Given the description of an element on the screen output the (x, y) to click on. 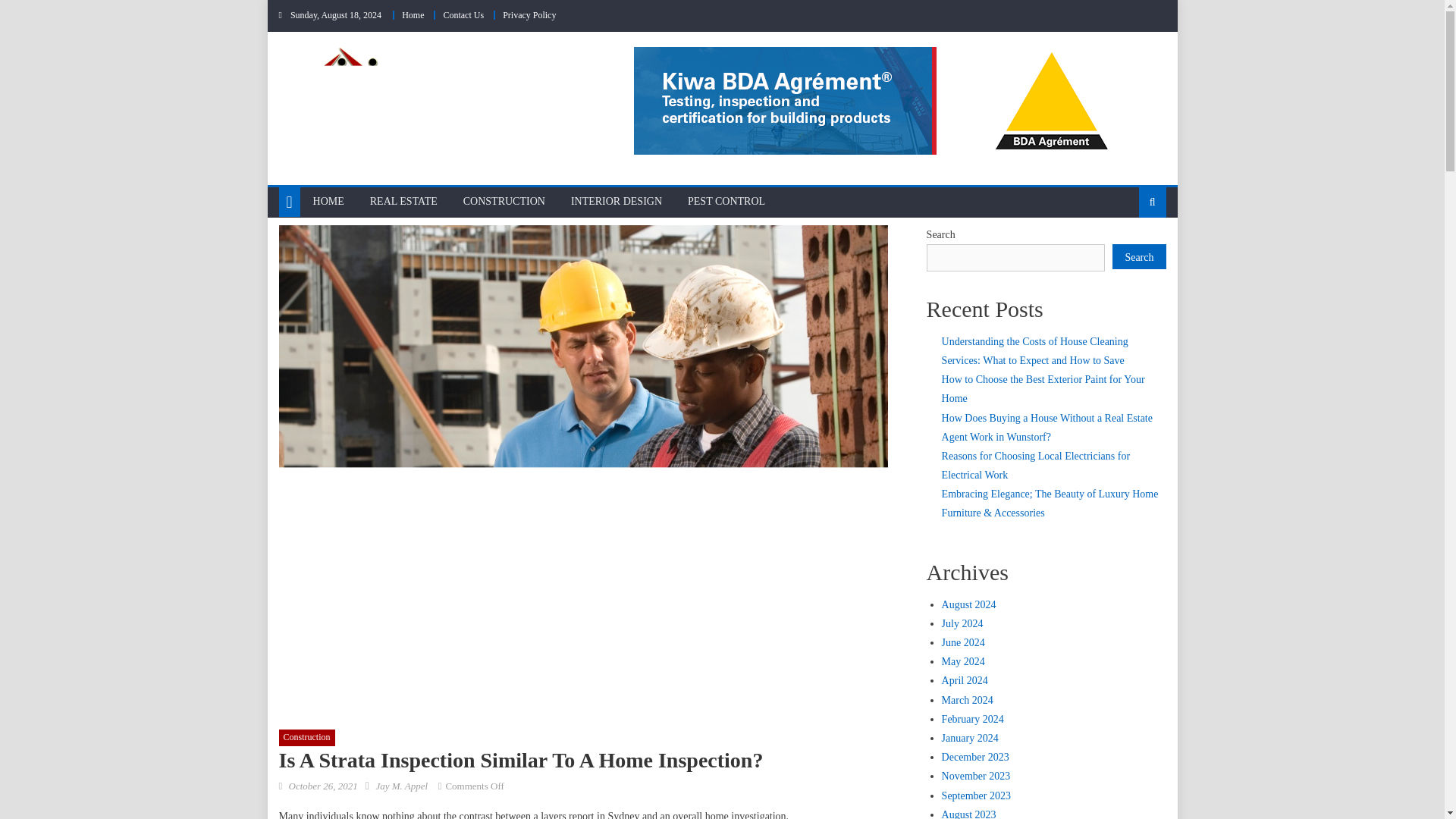
Home (412, 14)
October 26, 2021 (322, 785)
Contact Us (462, 14)
PEST CONTROL (726, 201)
Search (1128, 250)
REAL ESTATE (403, 201)
Privacy Policy (529, 14)
CONSTRUCTION (503, 201)
Jay M. Appel (401, 785)
HOME (328, 201)
